Given the description of an element on the screen output the (x, y) to click on. 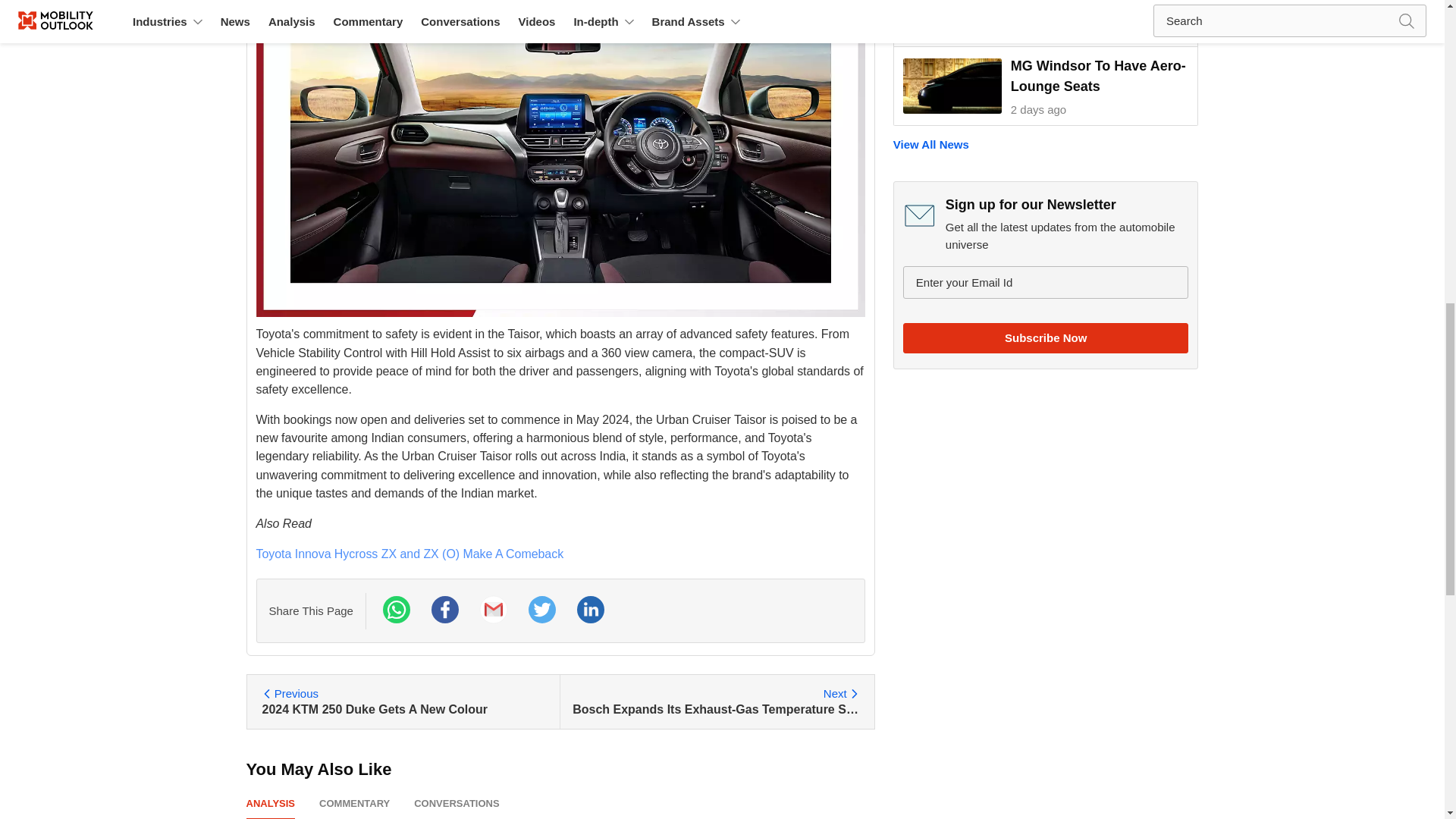
Subscribe Now (1045, 337)
twitter Share Link (405, 701)
whatsapp Share Link (542, 609)
facebook Share Link (396, 609)
View All News (1045, 22)
